Given the description of an element on the screen output the (x, y) to click on. 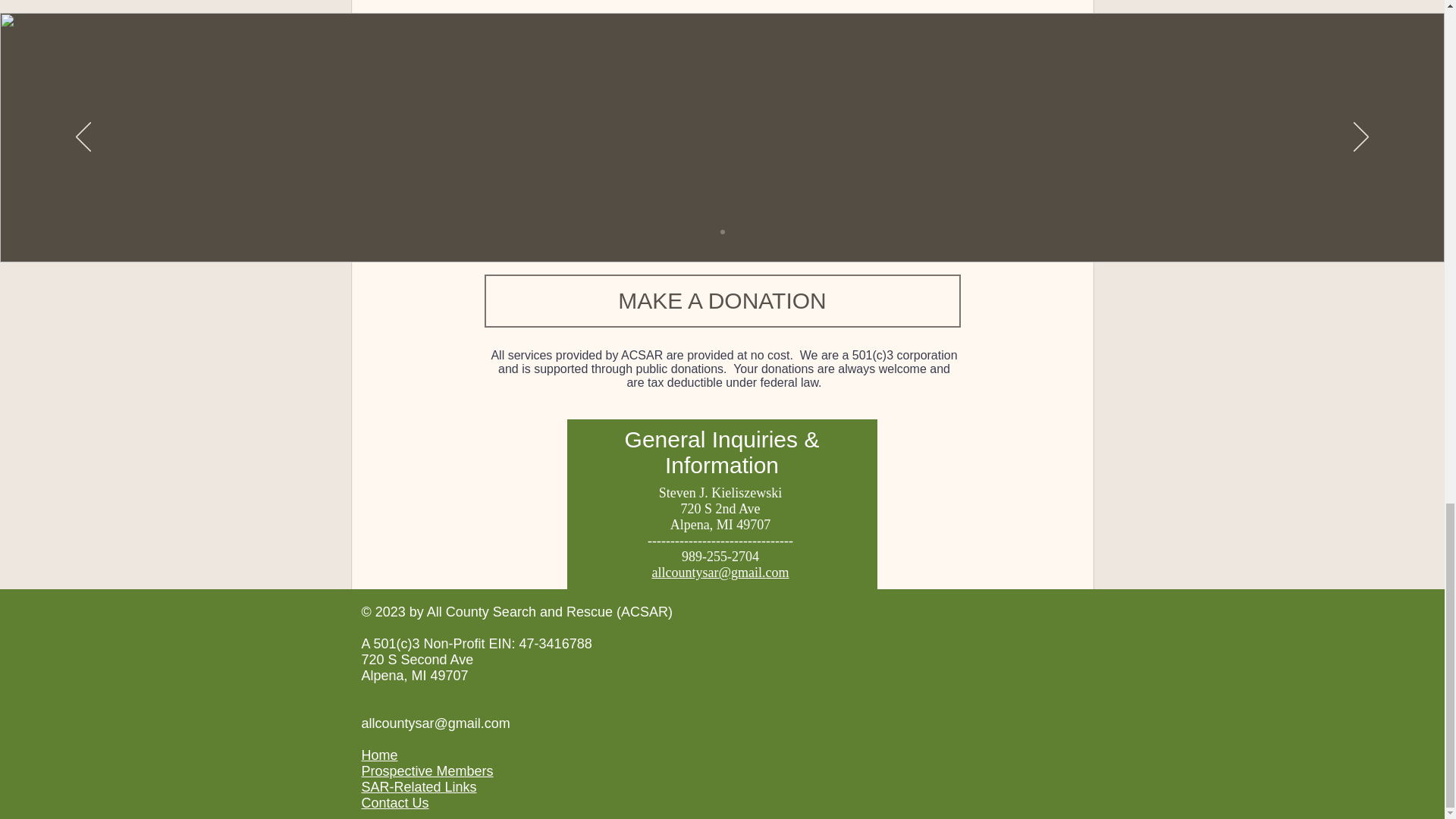
Home (379, 754)
MAKE A DONATION (721, 300)
SAR-Related Links (418, 786)
Contact Us (394, 802)
Prospective Members (427, 770)
